Given the description of an element on the screen output the (x, y) to click on. 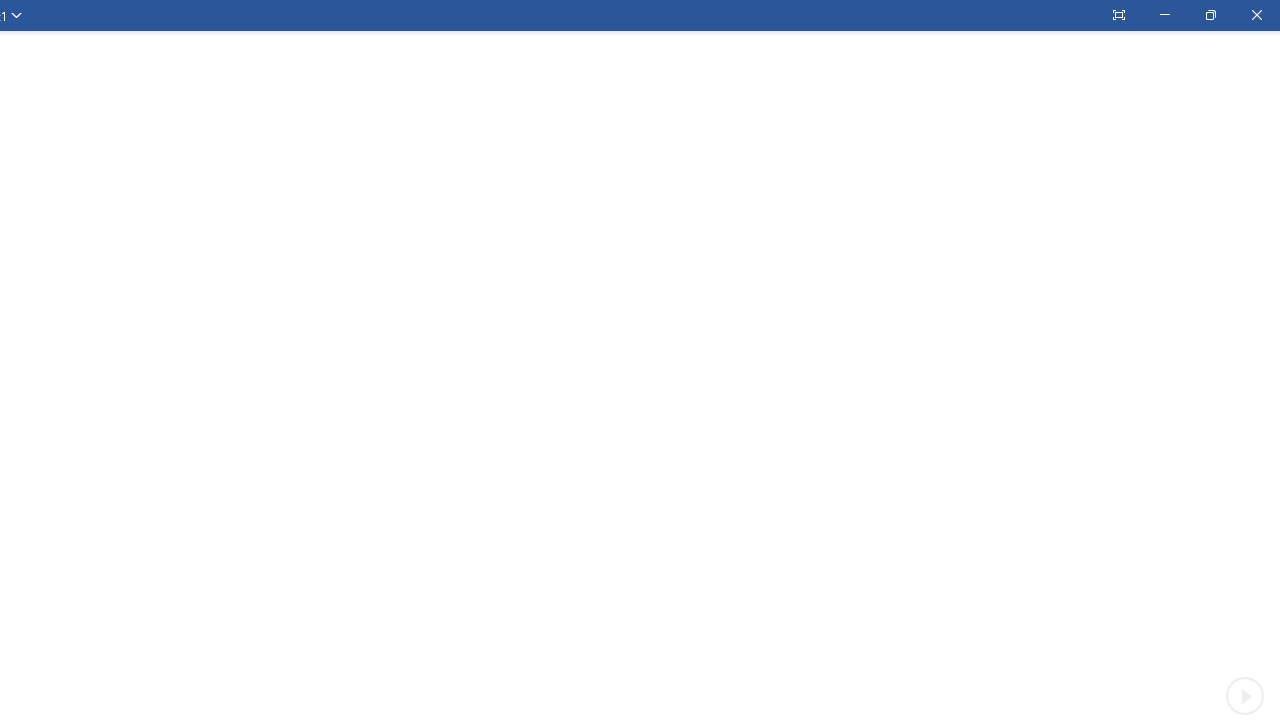
Auto-hide Reading Toolbar (1118, 15)
